Given the description of an element on the screen output the (x, y) to click on. 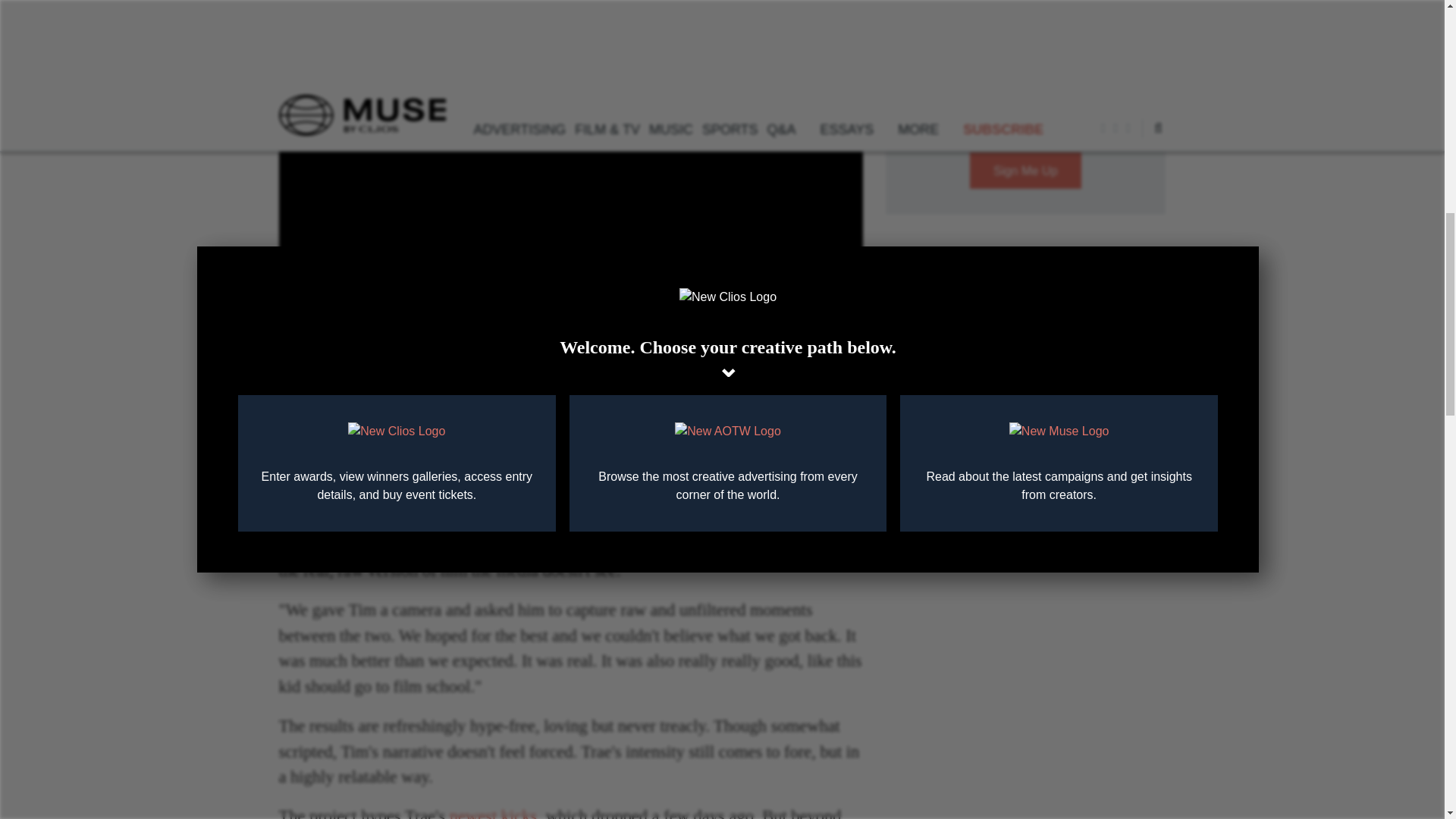
Play Video (571, 242)
